Given the description of an element on the screen output the (x, y) to click on. 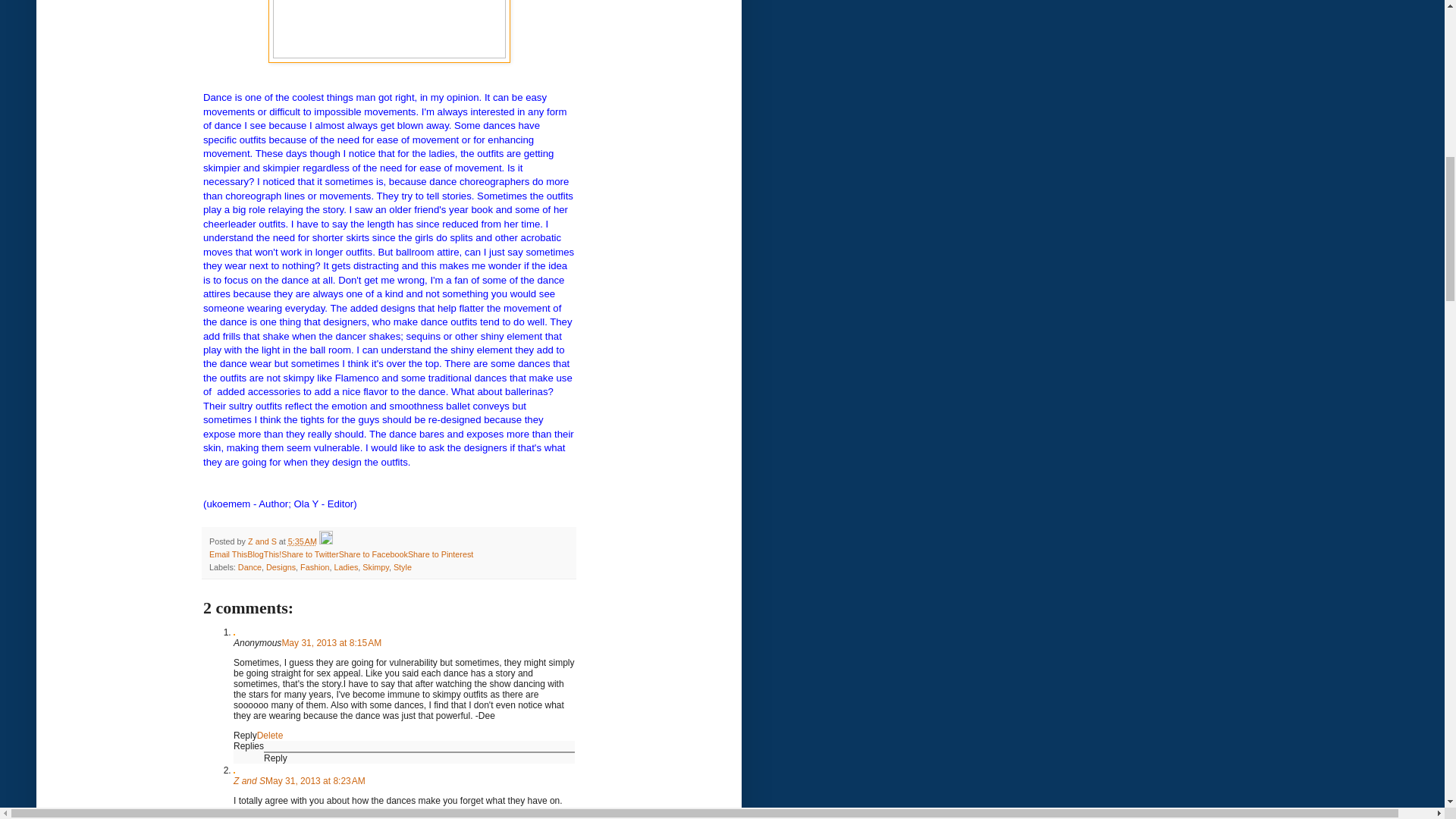
Edit Post (325, 541)
permanent link (302, 541)
Dance (250, 566)
Fashion (314, 566)
Reply (244, 735)
Email This (228, 553)
Z and S (263, 541)
Reply (274, 757)
Email This (228, 553)
Skimpy (375, 566)
Delete (270, 735)
Ladies (345, 566)
Share to Facebook (373, 553)
